Given the description of an element on the screen output the (x, y) to click on. 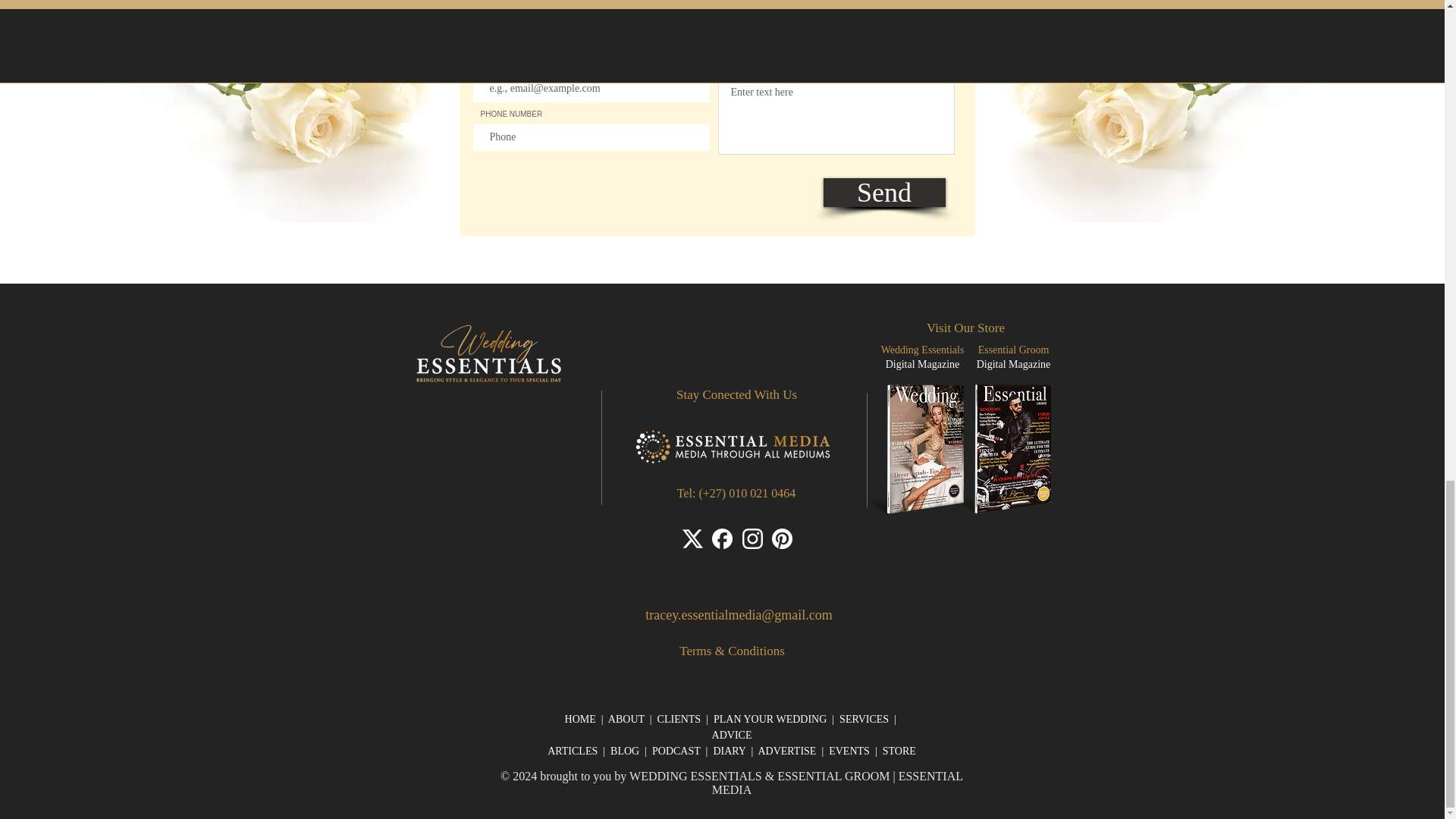
Tel:  (687, 492)
Involved young friends looking at the we (1186, 110)
Involved young friends looking at the we (251, 110)
instagram-white-icon.png (751, 538)
Send (884, 192)
